Given the description of an element on the screen output the (x, y) to click on. 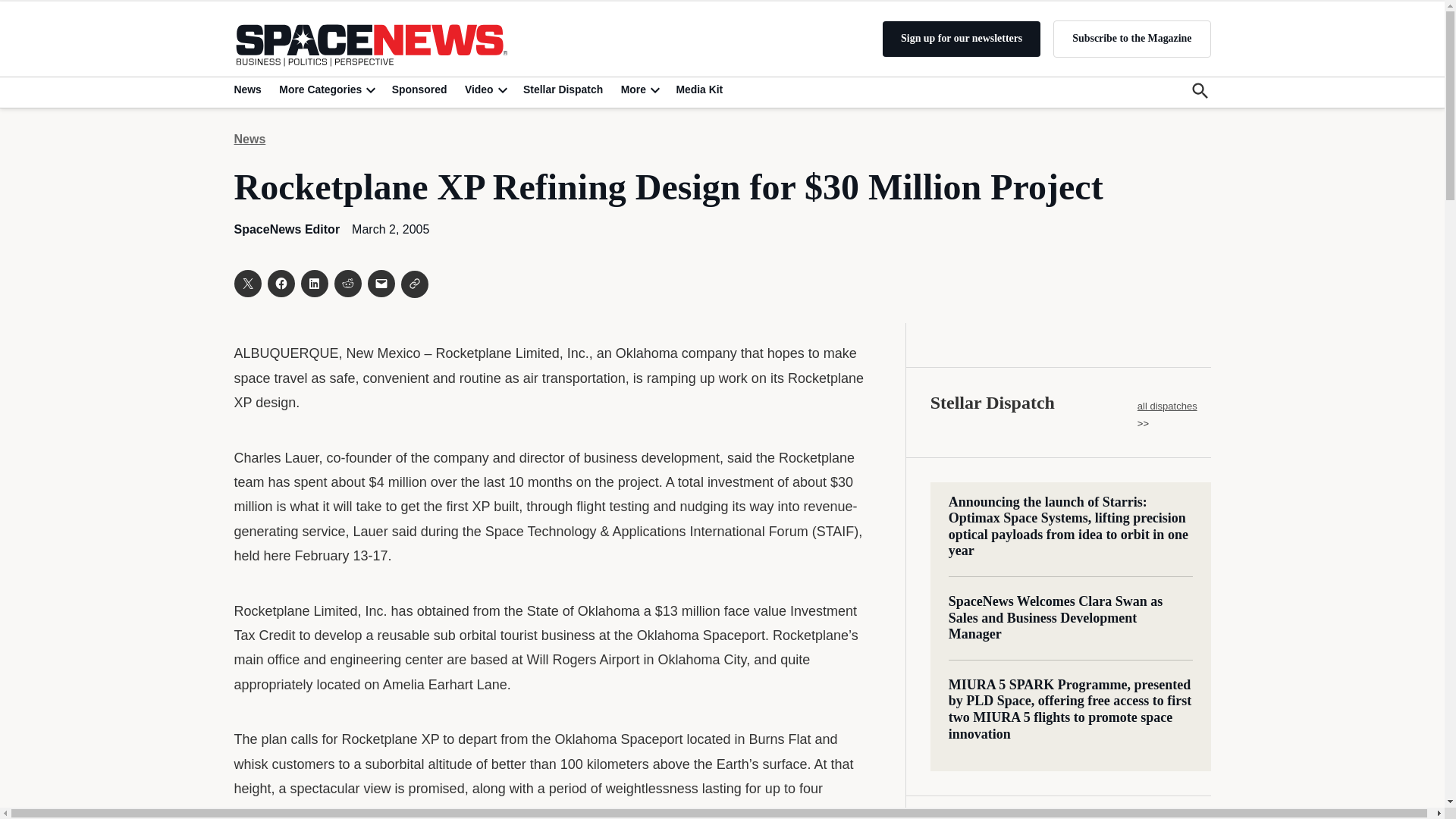
Click to email a link to a friend (380, 283)
Sign up for our newsletters (961, 38)
Subscribe to the Magazine (1130, 38)
Click to share on X (246, 283)
Click to share on Facebook (280, 283)
Click to share on Reddit (347, 283)
Click to share on LinkedIn (313, 283)
Click to share on Clipboard (414, 284)
